Given the description of an element on the screen output the (x, y) to click on. 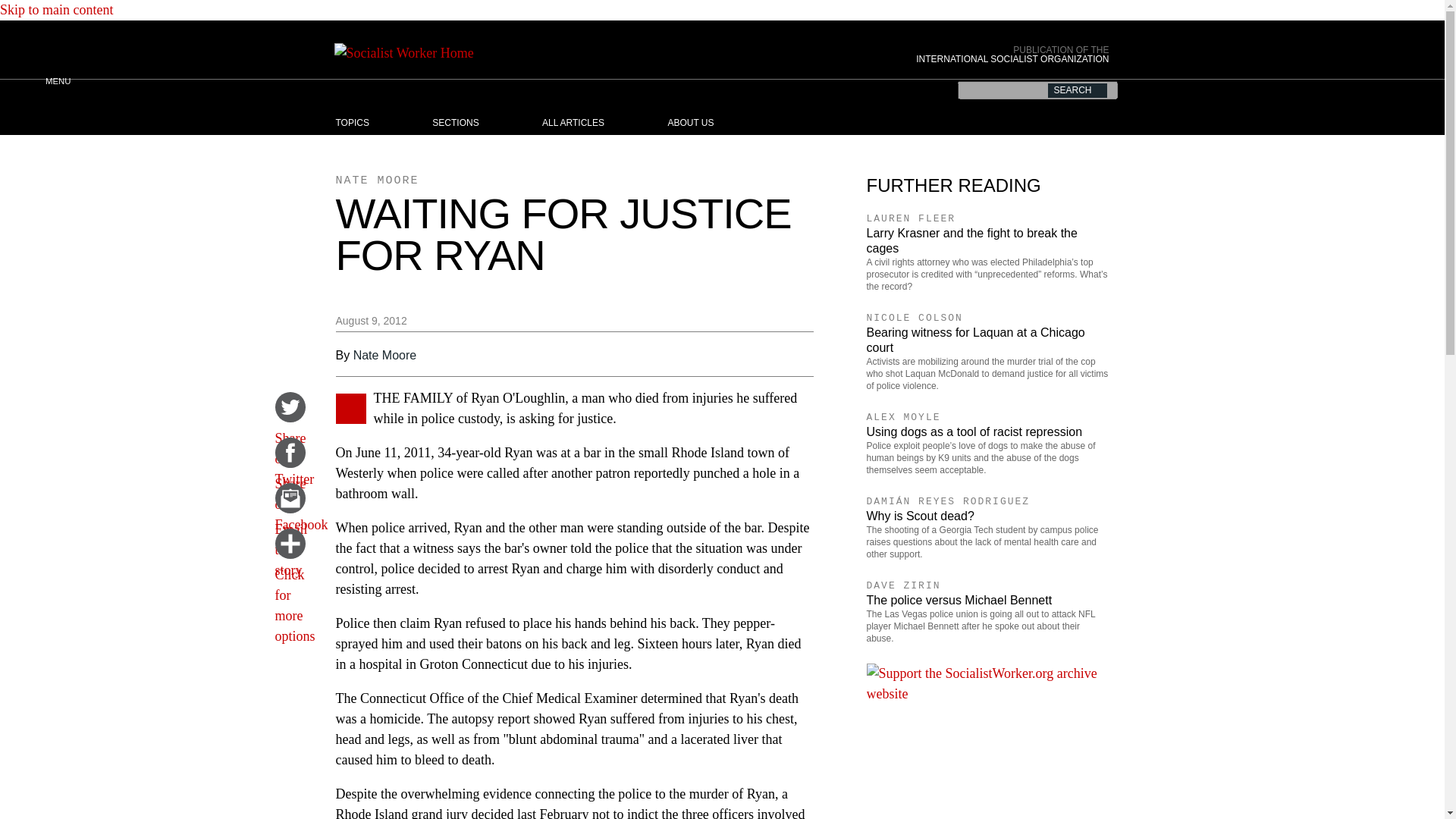
Enter the terms you wish to search for. (1036, 90)
Home (616, 53)
Skip to main content (56, 9)
TOPICS (366, 123)
Search (1077, 90)
